Given the description of an element on the screen output the (x, y) to click on. 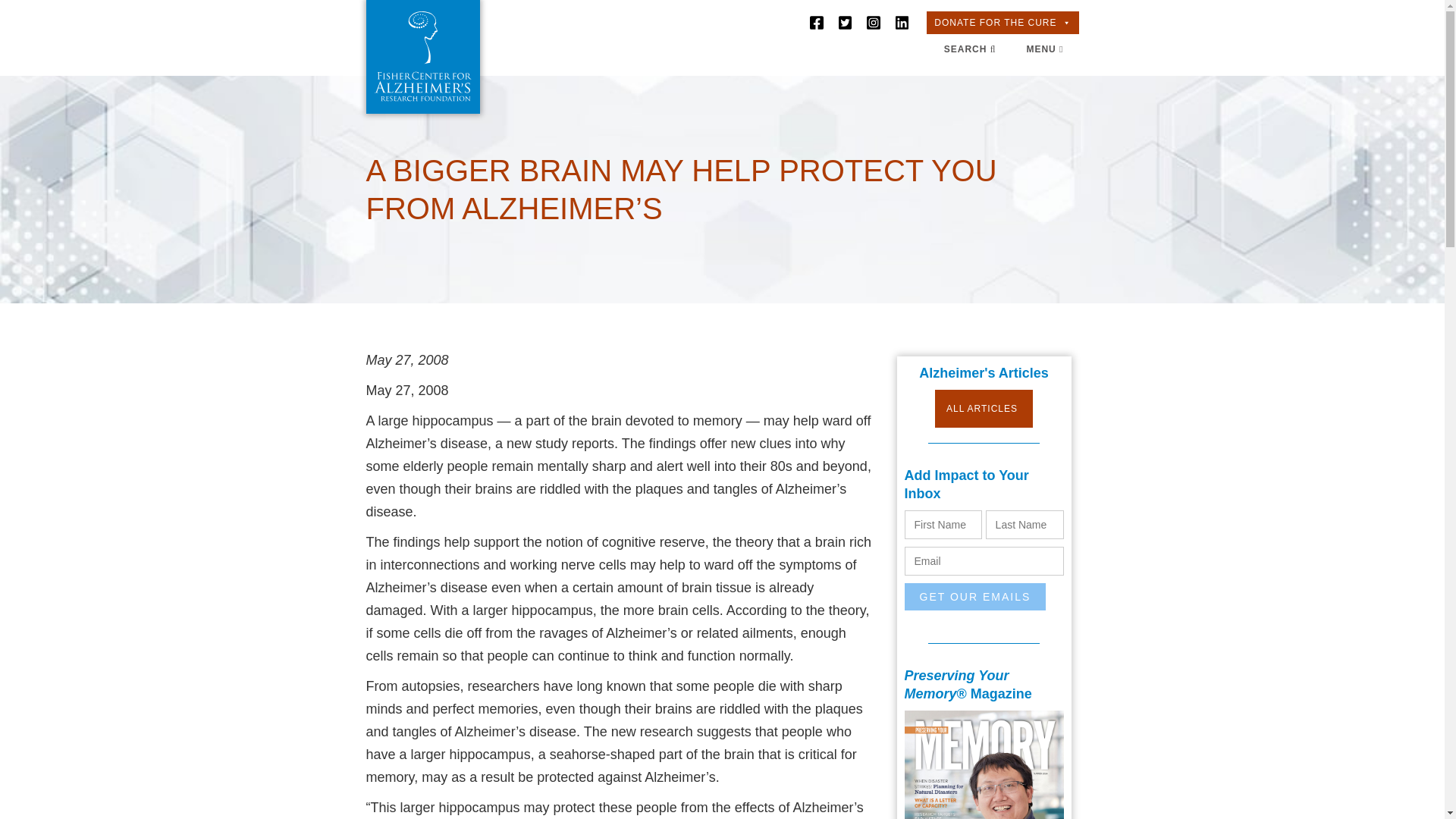
DONATE FOR THE CURE (1002, 22)
GET OUR EMAILS (974, 596)
